Given the description of an element on the screen output the (x, y) to click on. 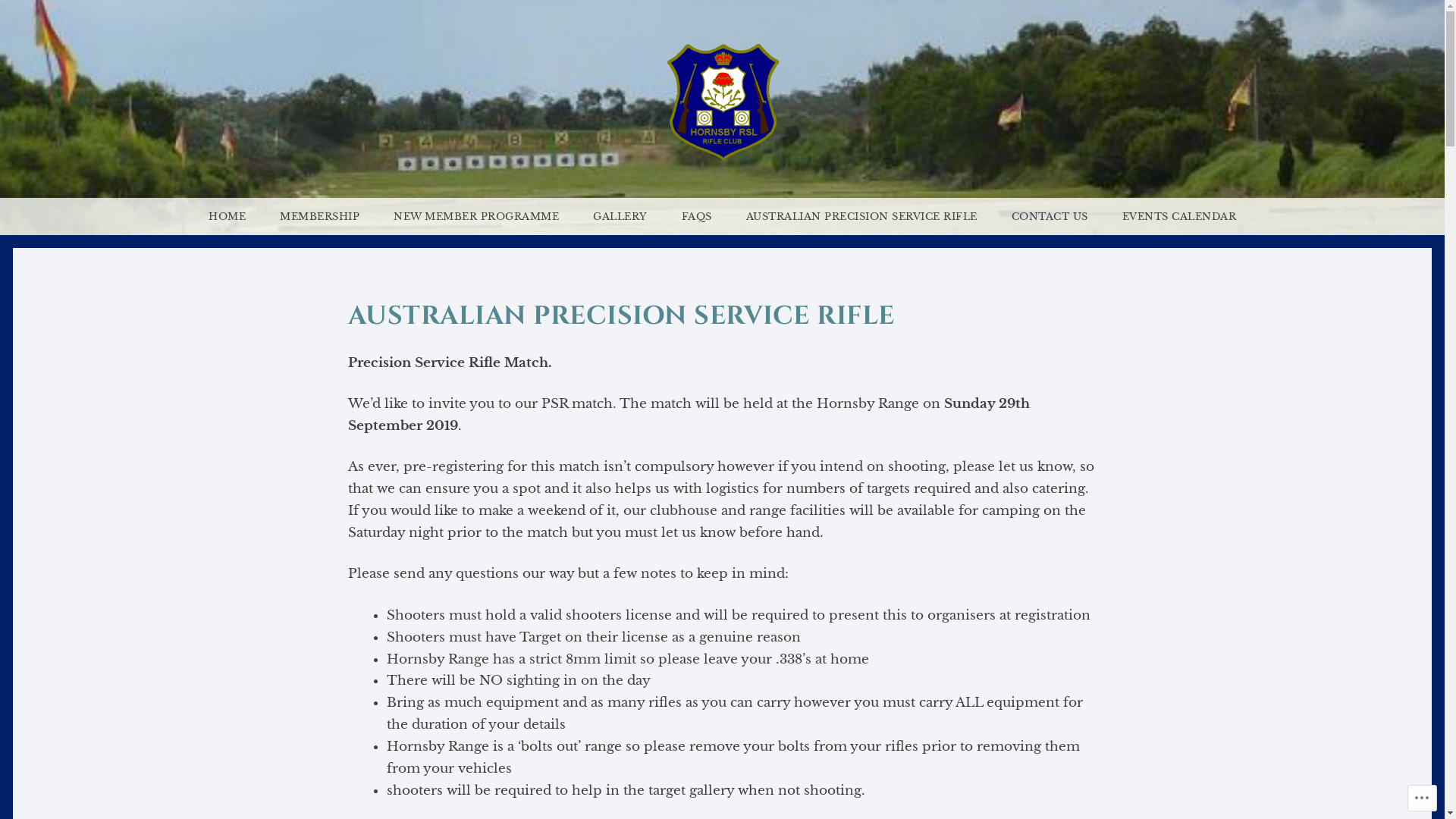
SKIP TO CONTENT Element type: text (70, 216)
CONTACT US Element type: text (1049, 216)
MEMBERSHIP Element type: text (319, 216)
EVENTS CALENDAR Element type: text (1179, 216)
GALLERY Element type: text (619, 216)
FAQS Element type: text (695, 216)
HOME Element type: text (226, 216)
HORNSBY RSL RIFLE CLUB Element type: text (736, 463)
Search Element type: text (36, 12)
NEW MEMBER PROGRAMME Element type: text (476, 216)
AUSTRALIAN PRECISION SERVICE RIFLE Element type: text (861, 216)
